Given the description of an element on the screen output the (x, y) to click on. 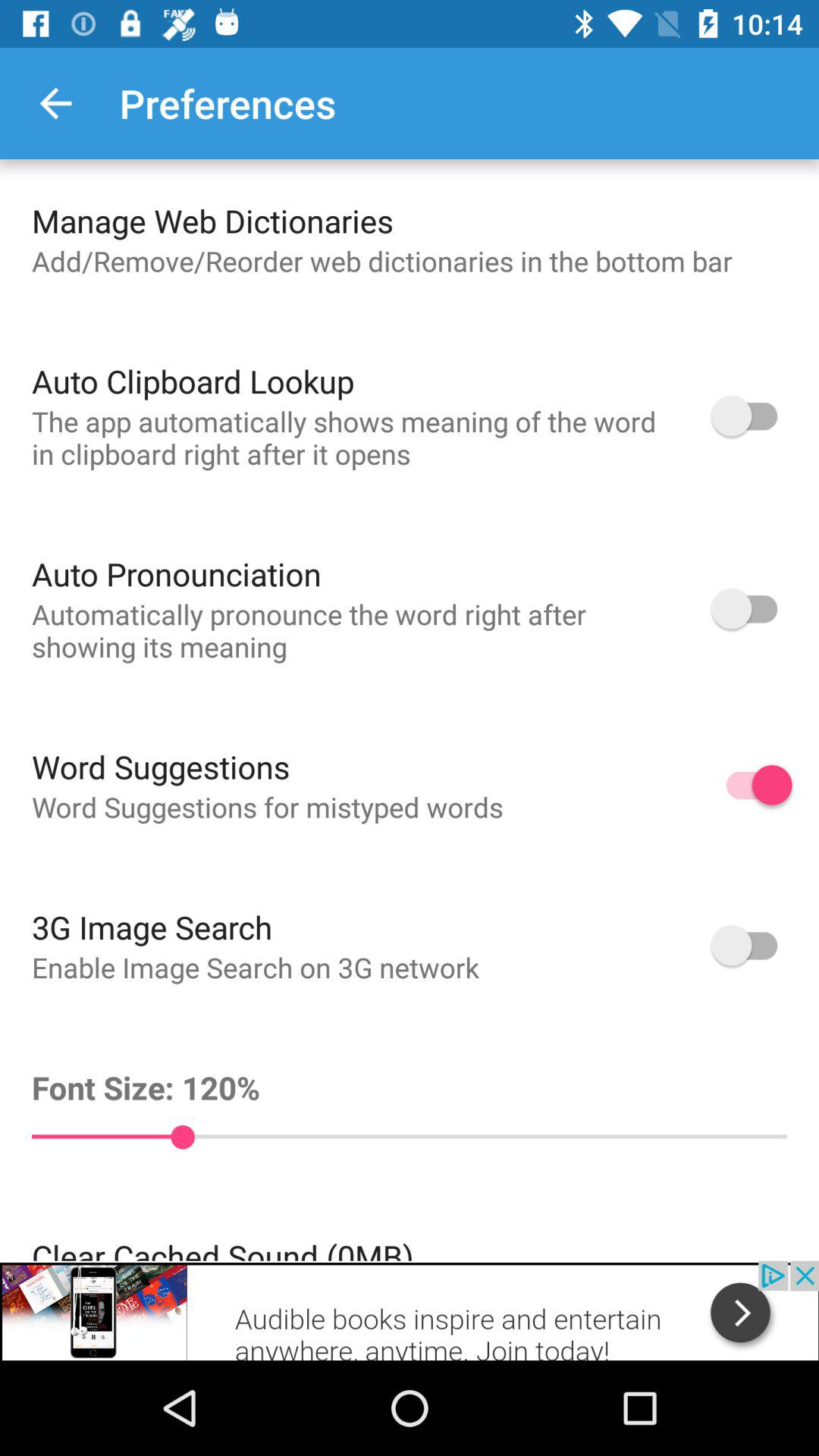
select auto pronounciation option (751, 608)
